Given the description of an element on the screen output the (x, y) to click on. 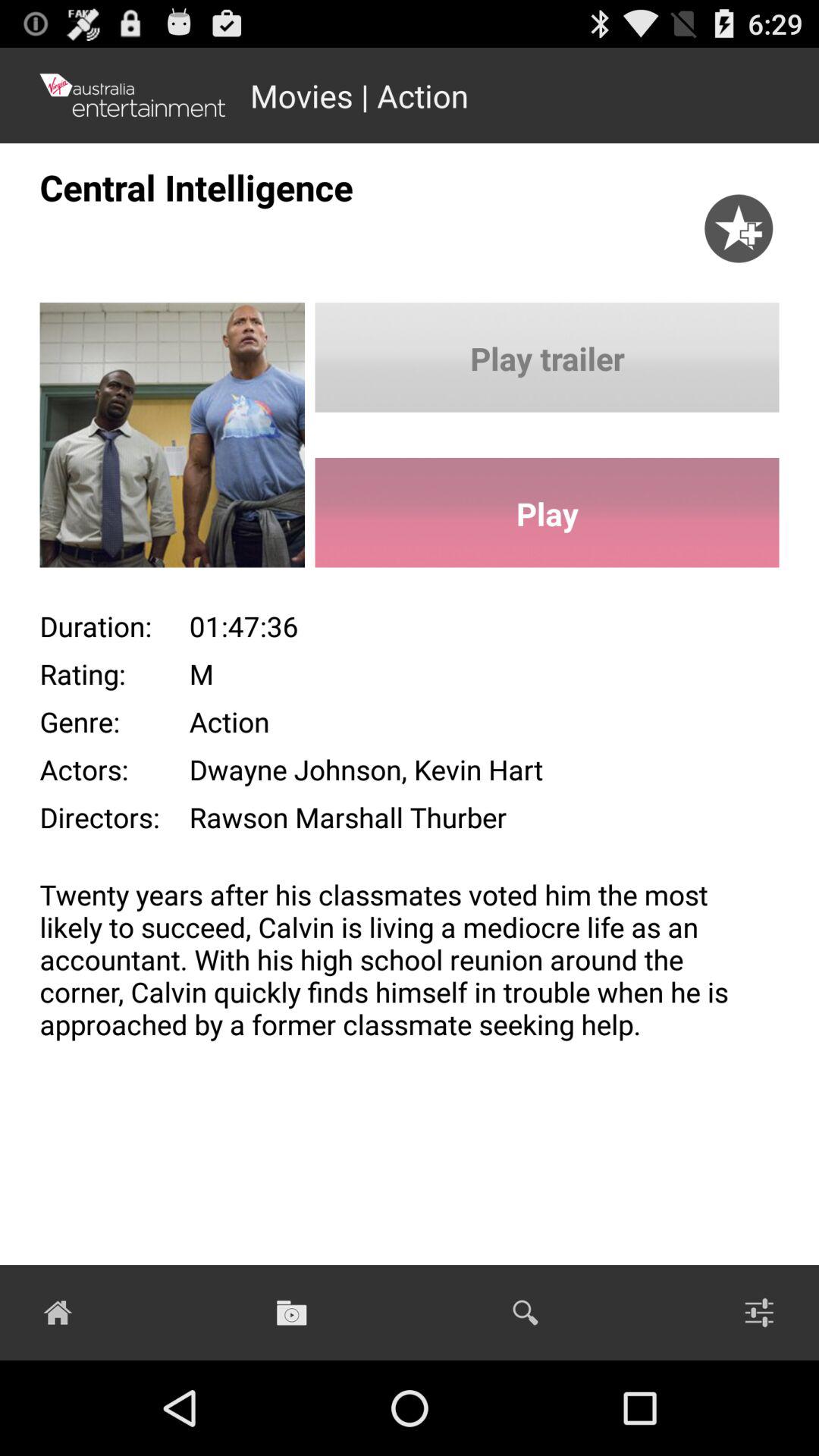
open button above play icon (547, 357)
